Given the description of an element on the screen output the (x, y) to click on. 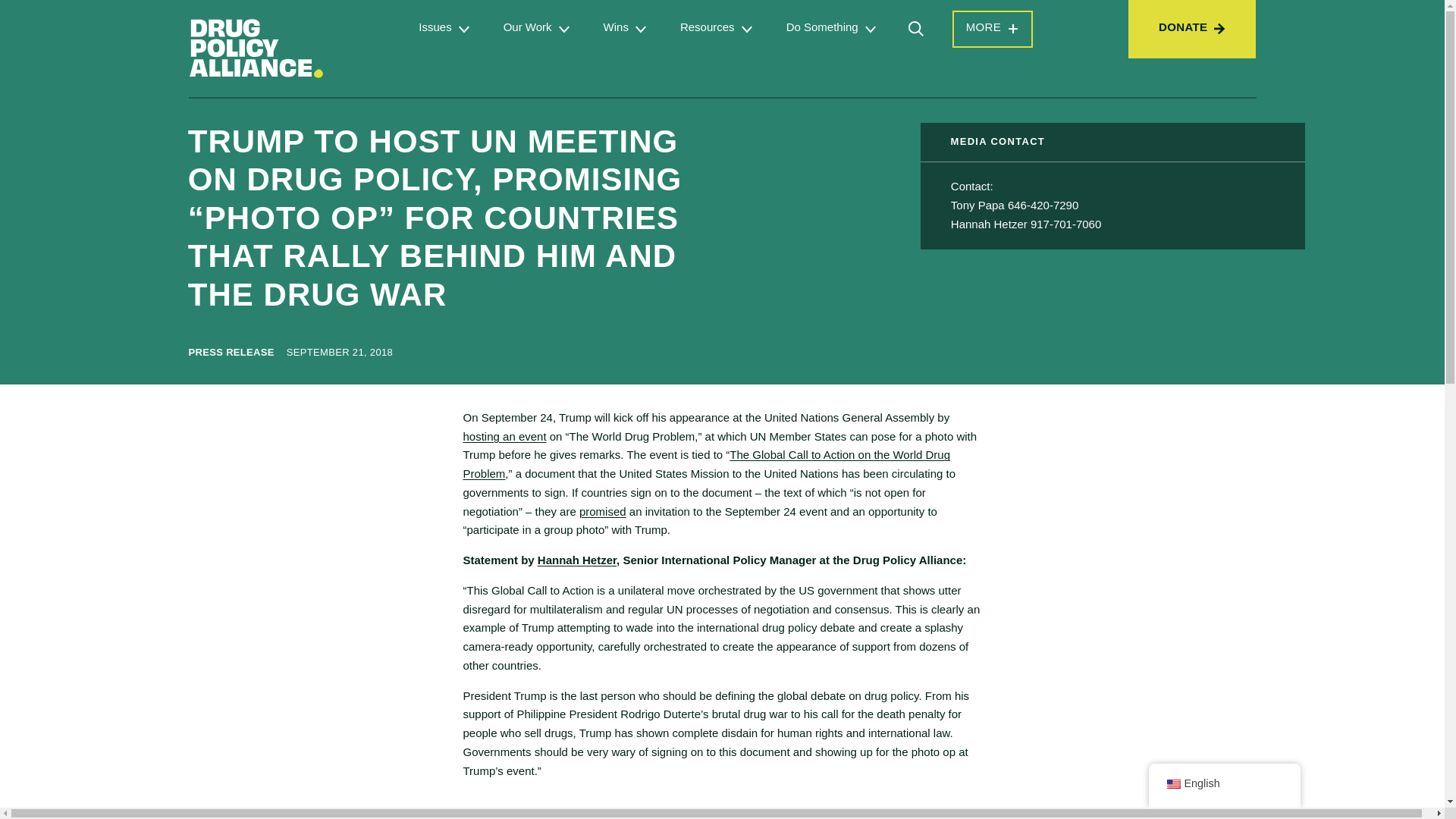
Wins (616, 27)
Resources (707, 27)
English (1172, 783)
Issues (435, 27)
DONATE (1191, 29)
MORE (992, 28)
Do Something (822, 27)
Our Work (527, 27)
